Given the description of an element on the screen output the (x, y) to click on. 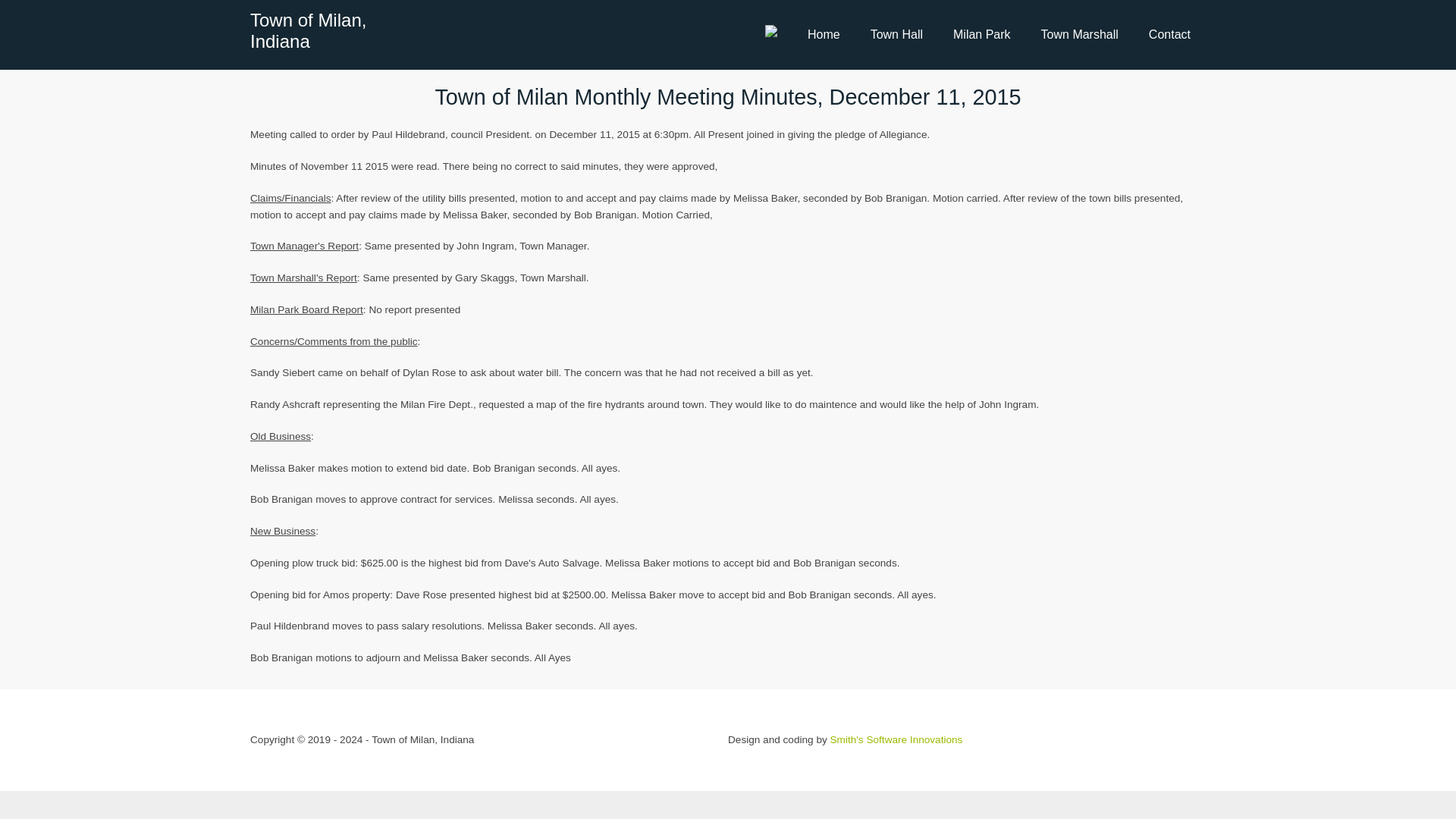
Town Marshall (1080, 34)
Contact (1169, 34)
Milan Park (981, 34)
Town Hall (896, 34)
Home (824, 34)
Smith's Software Innovations (895, 739)
